Given the description of an element on the screen output the (x, y) to click on. 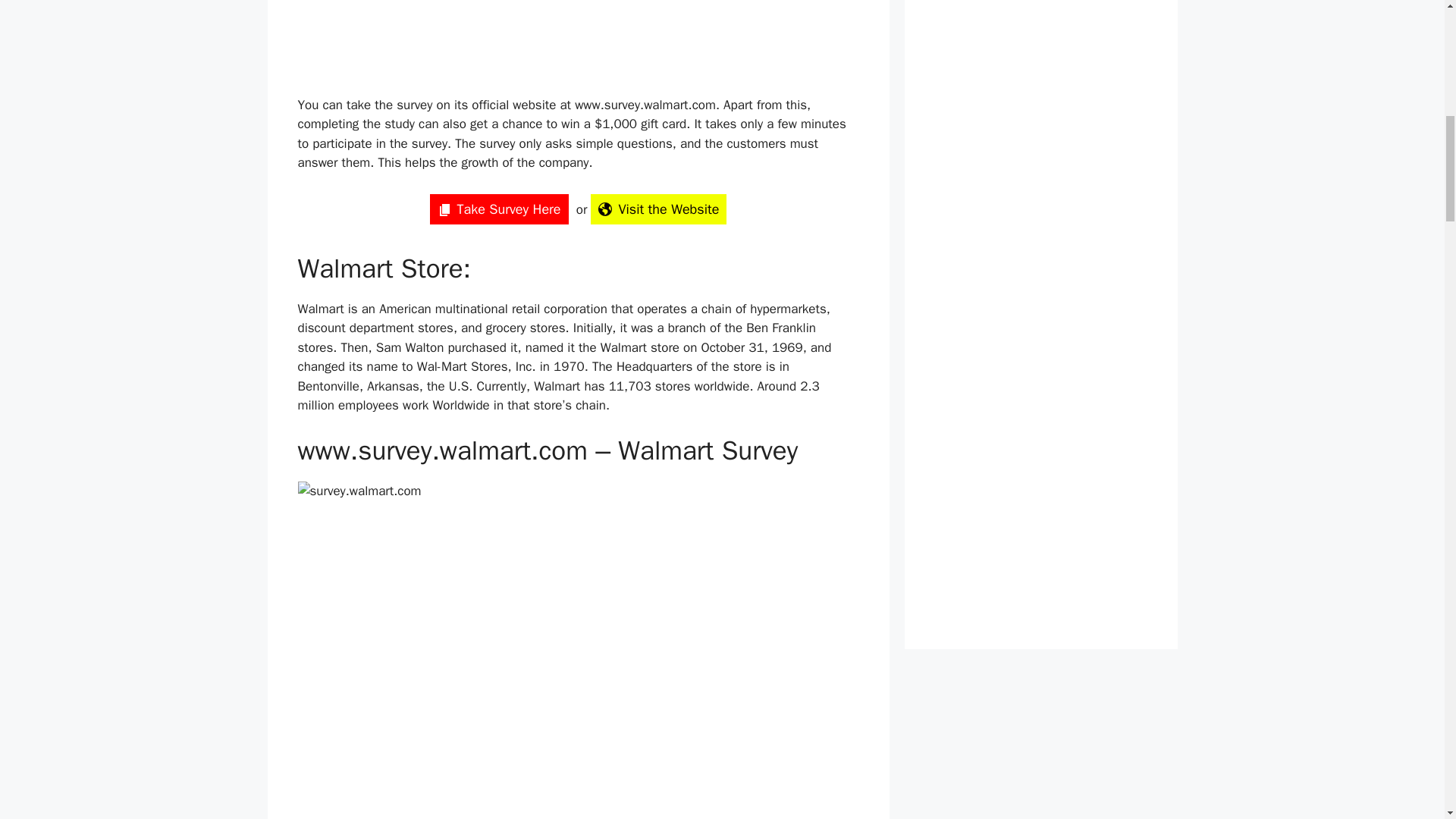
Advertisement (542, 44)
Take Survey Here (499, 209)
Visit the Website (658, 209)
